Given the description of an element on the screen output the (x, y) to click on. 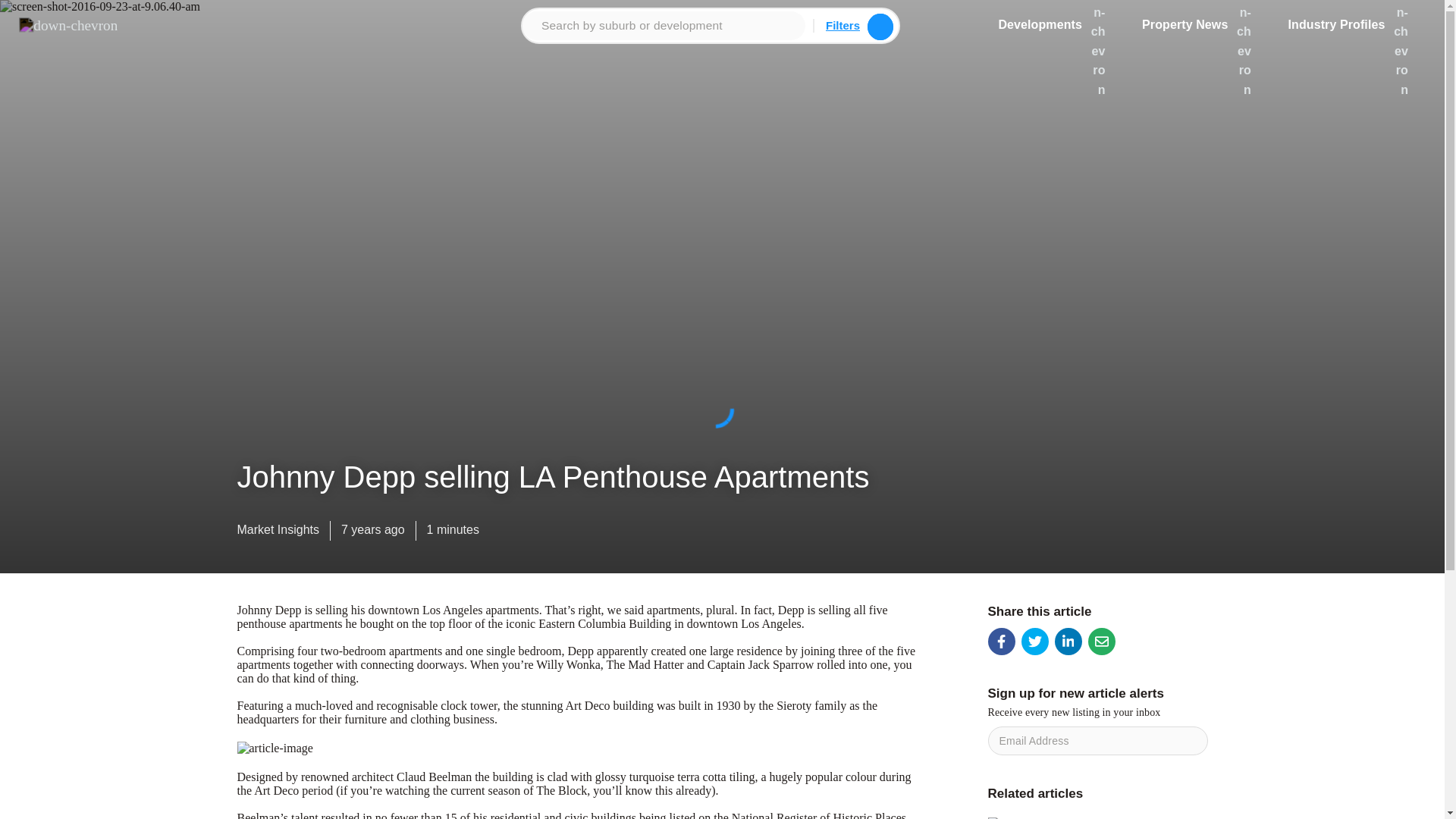
Filters (842, 24)
Market Insights (276, 532)
